Given the description of an element on the screen output the (x, y) to click on. 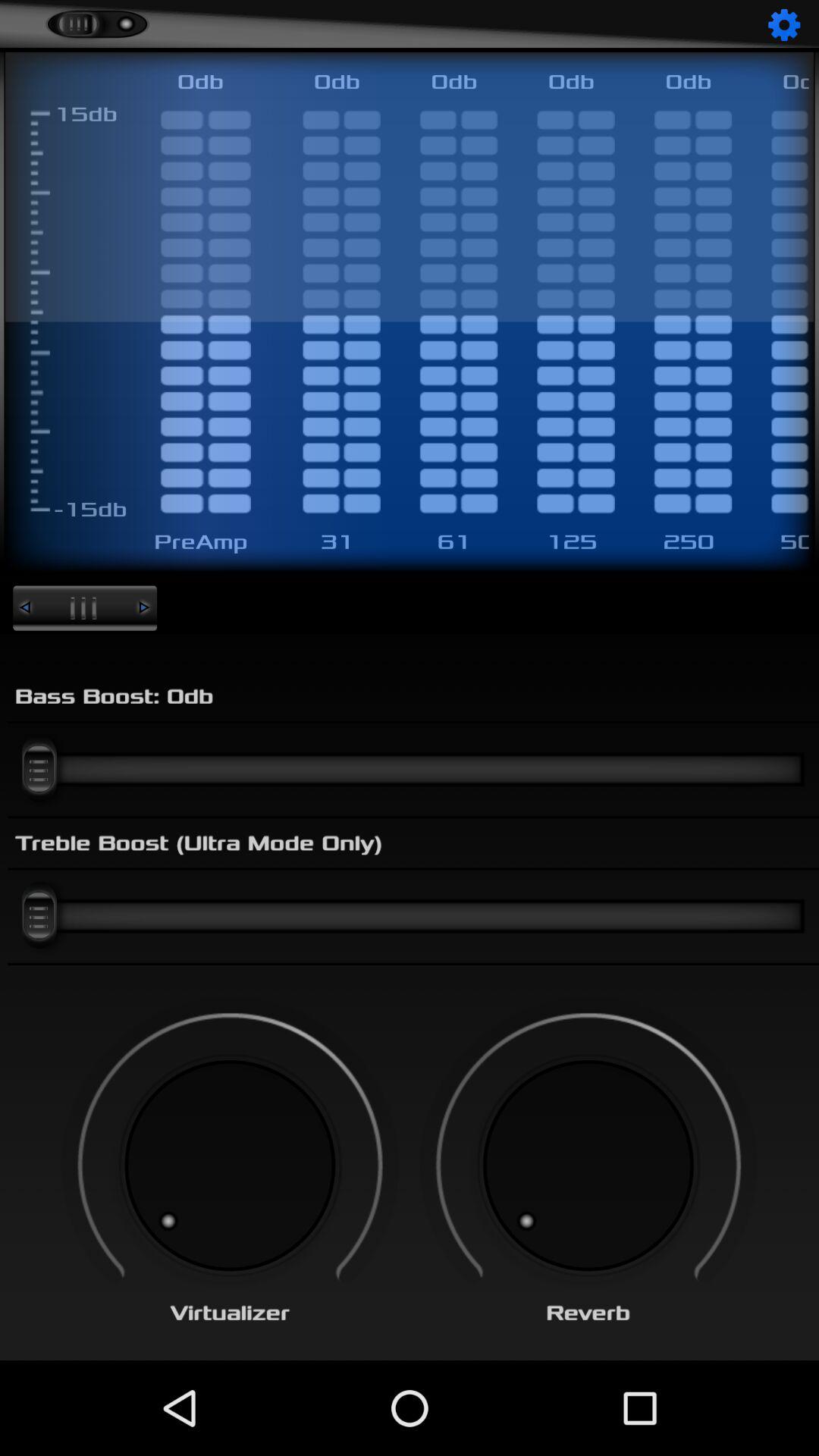
select reverb knob (587, 1165)
